Given the description of an element on the screen output the (x, y) to click on. 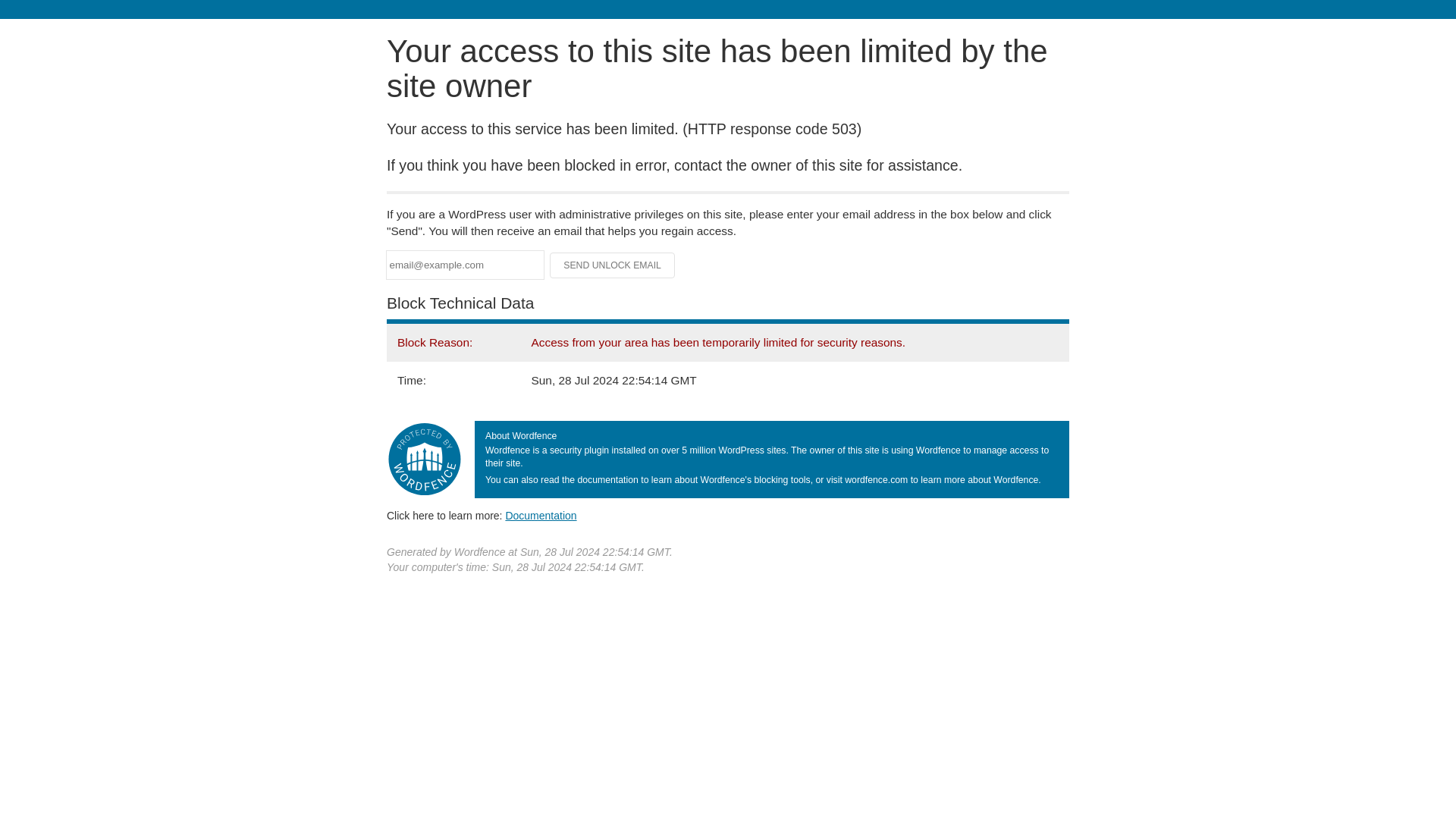
Send Unlock Email (612, 265)
Send Unlock Email (612, 265)
Documentation (540, 515)
